Given the description of an element on the screen output the (x, y) to click on. 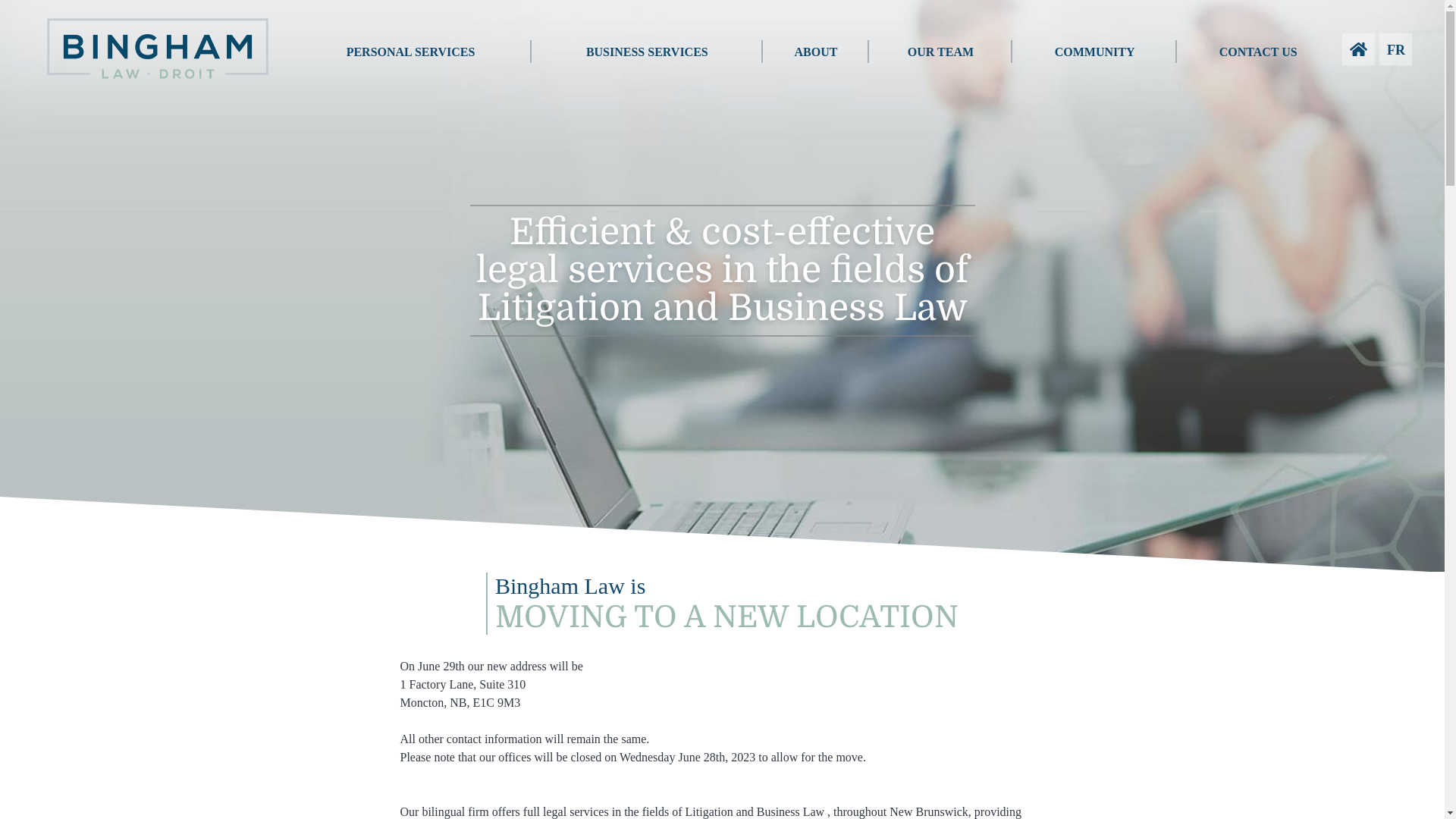
CONTACT US Element type: text (1257, 52)
FR Element type: text (1395, 49)
OUR TEAM Element type: text (940, 52)
COMMUNITY Element type: text (1094, 52)
